Given the description of an element on the screen output the (x, y) to click on. 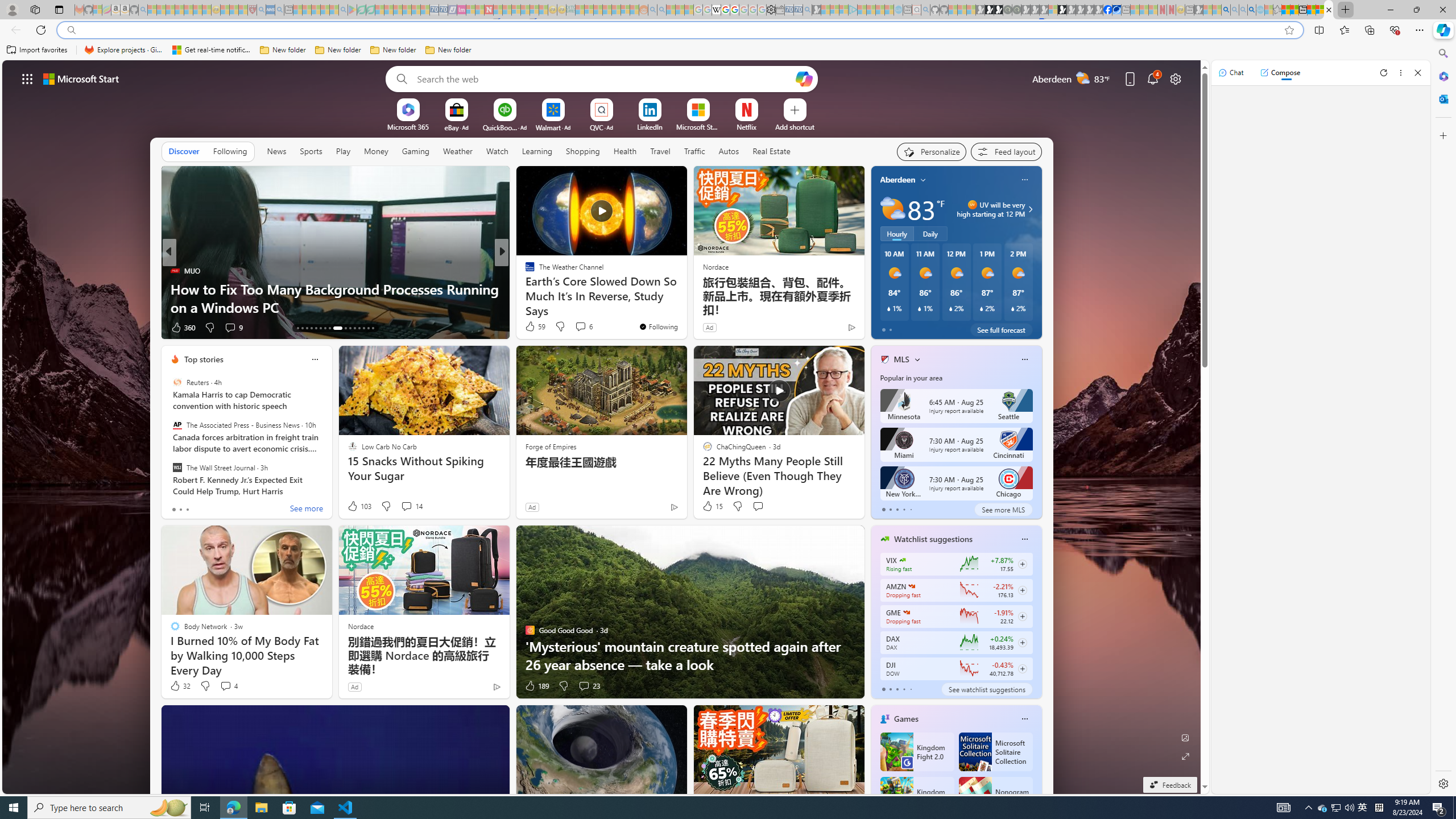
20 Animals with Astonishing and Unique Features (684, 307)
View comments 4 Comment (228, 685)
View comments 5 Comment (576, 327)
View comments 11 Comment (585, 327)
97 Like (530, 327)
Traffic (694, 151)
14 Common Myths Debunked By Scientific Facts - Sleeping (506, 9)
More interests (917, 359)
View comments 14 Comment (406, 505)
The Spicy Chefs (524, 270)
Class: weather-arrow-glyph (1029, 208)
